Given the description of an element on the screen output the (x, y) to click on. 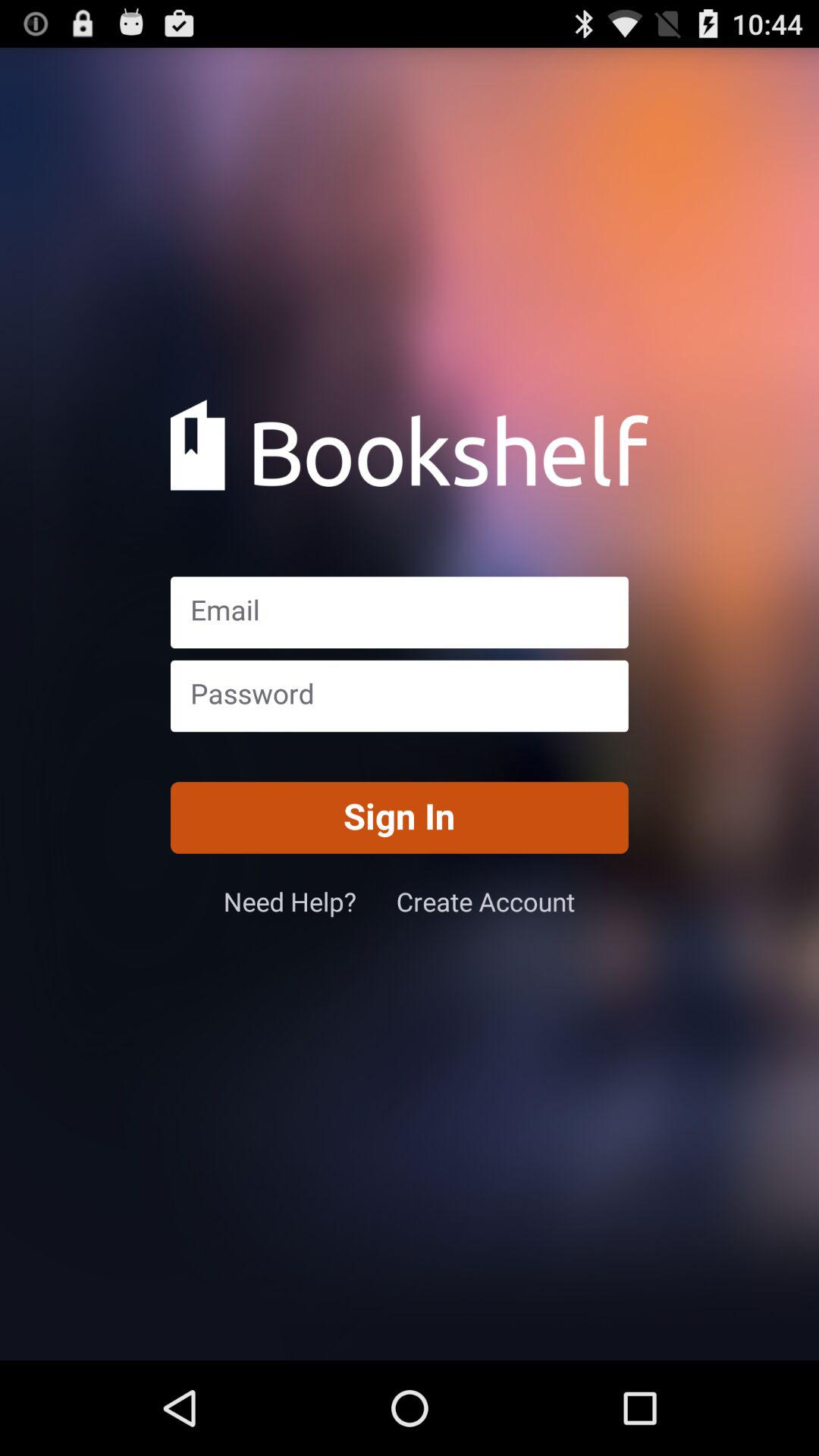
turn on icon to the left of the create account icon (309, 901)
